Given the description of an element on the screen output the (x, y) to click on. 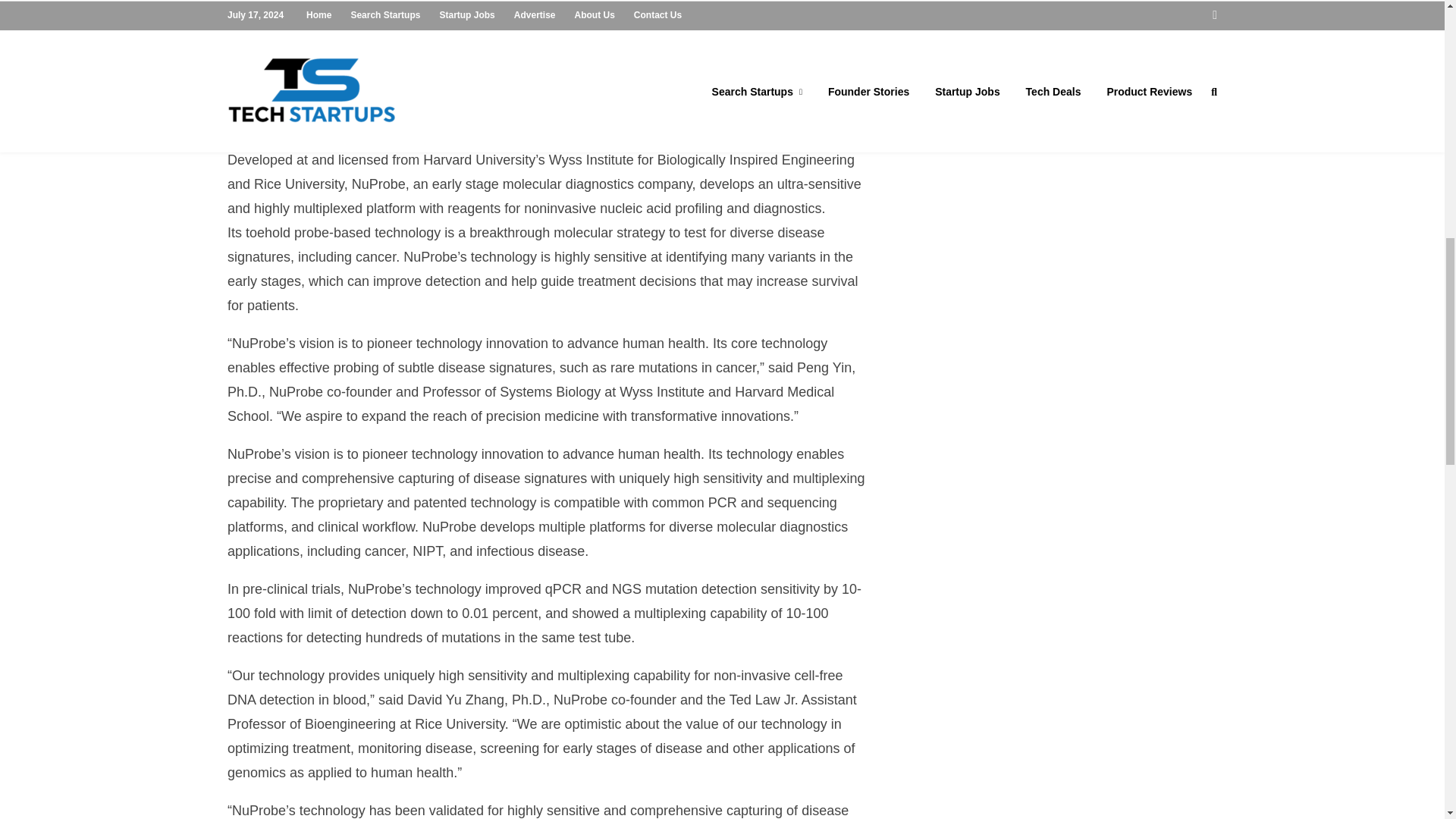
Advertisement (1064, 66)
